Given the description of an element on the screen output the (x, y) to click on. 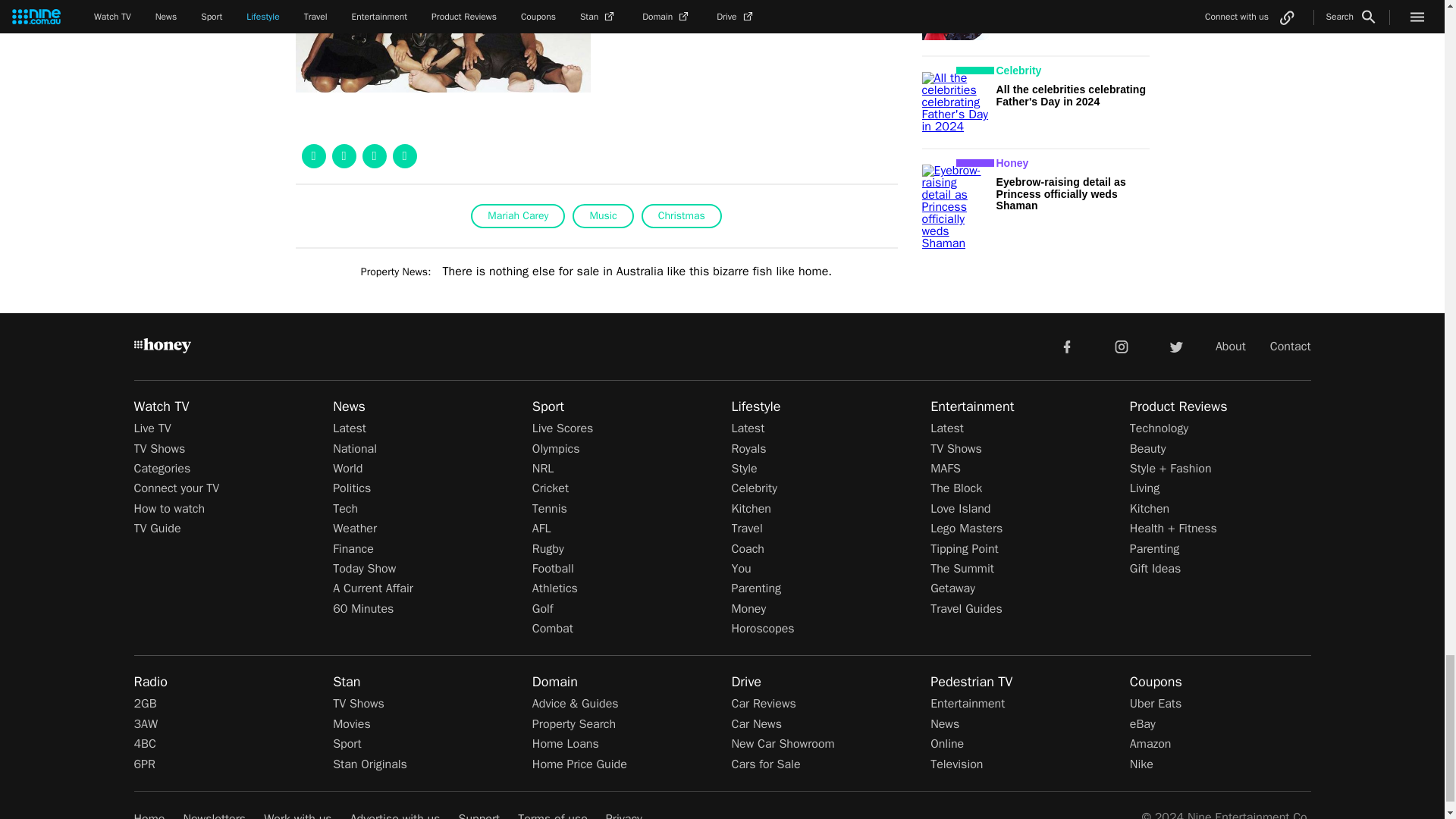
facebook (1066, 345)
instagram (1121, 345)
twitter (1175, 345)
Mariah Carey (517, 215)
